Given the description of an element on the screen output the (x, y) to click on. 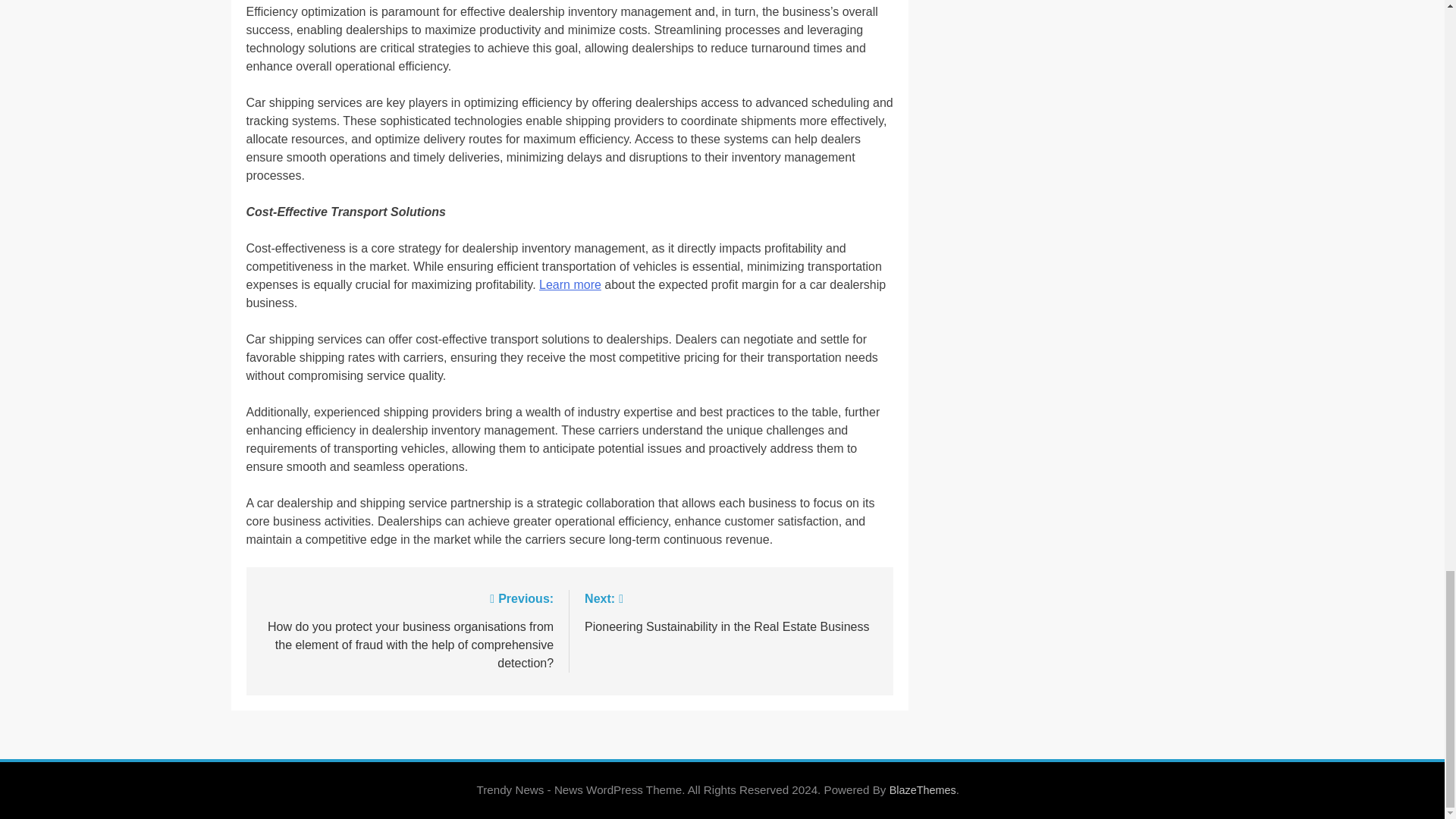
Learn more (569, 284)
